Given the description of an element on the screen output the (x, y) to click on. 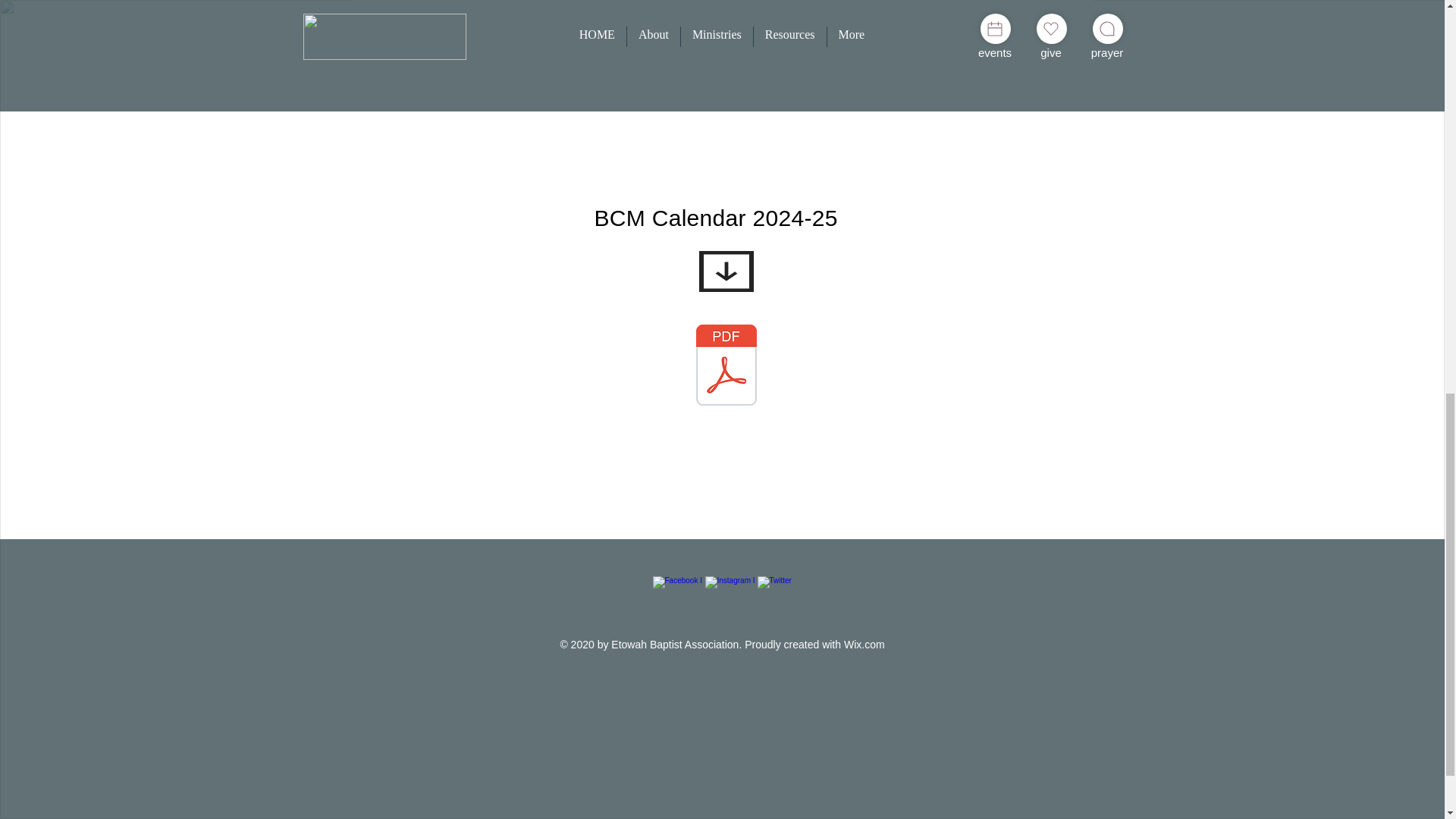
Wix.com (864, 644)
Baptist Campus Ministry (722, 40)
